Given the description of an element on the screen output the (x, y) to click on. 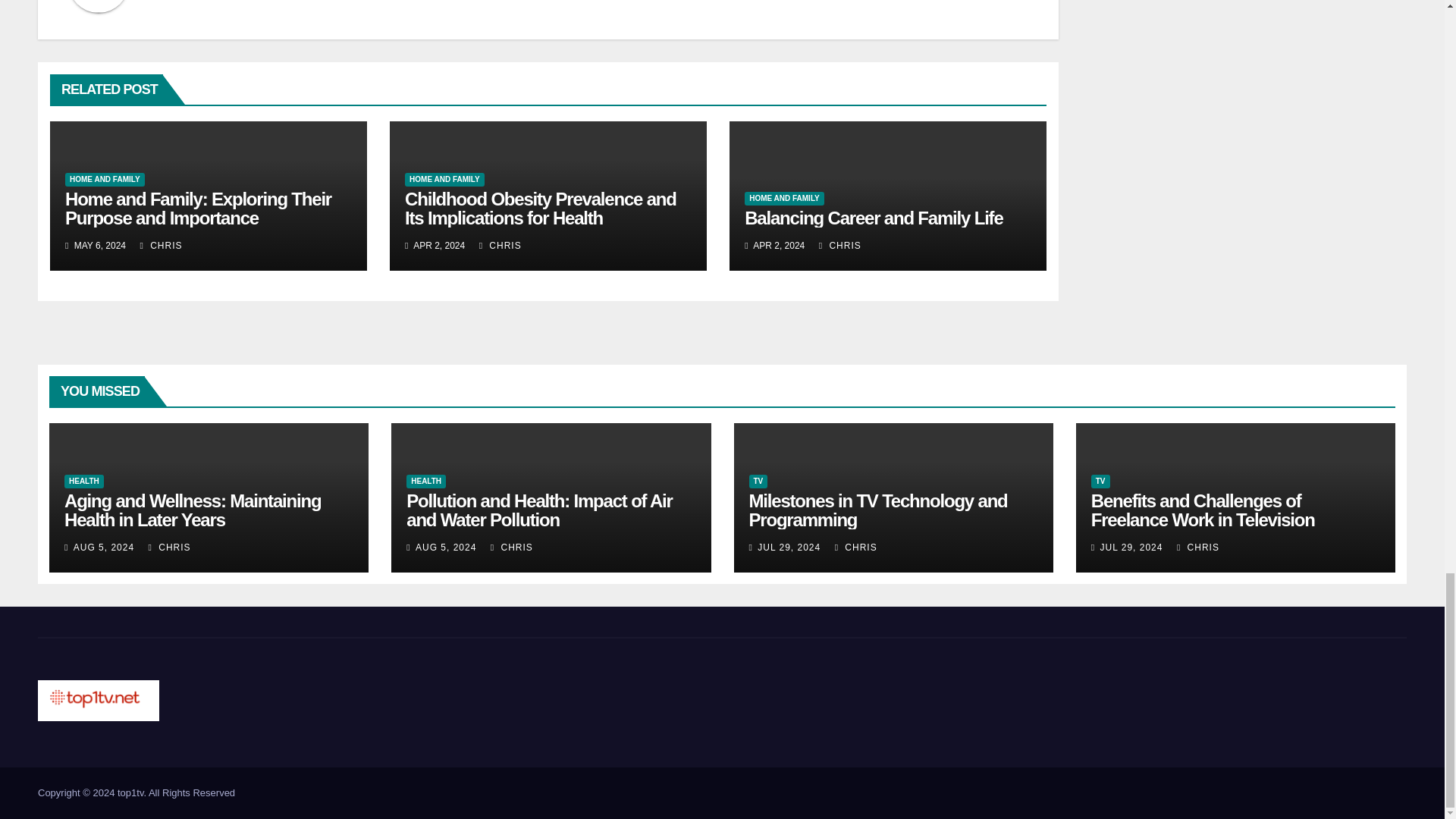
Permalink to: Balancing Career and Family Life (873, 218)
CHRIS (160, 245)
HOME AND FAMILY (104, 179)
Permalink to: Milestones in TV Technology and Programming (878, 509)
HOME AND FAMILY (444, 179)
Home and Family: Exploring Their Purpose and Importance (198, 208)
